Given the description of an element on the screen output the (x, y) to click on. 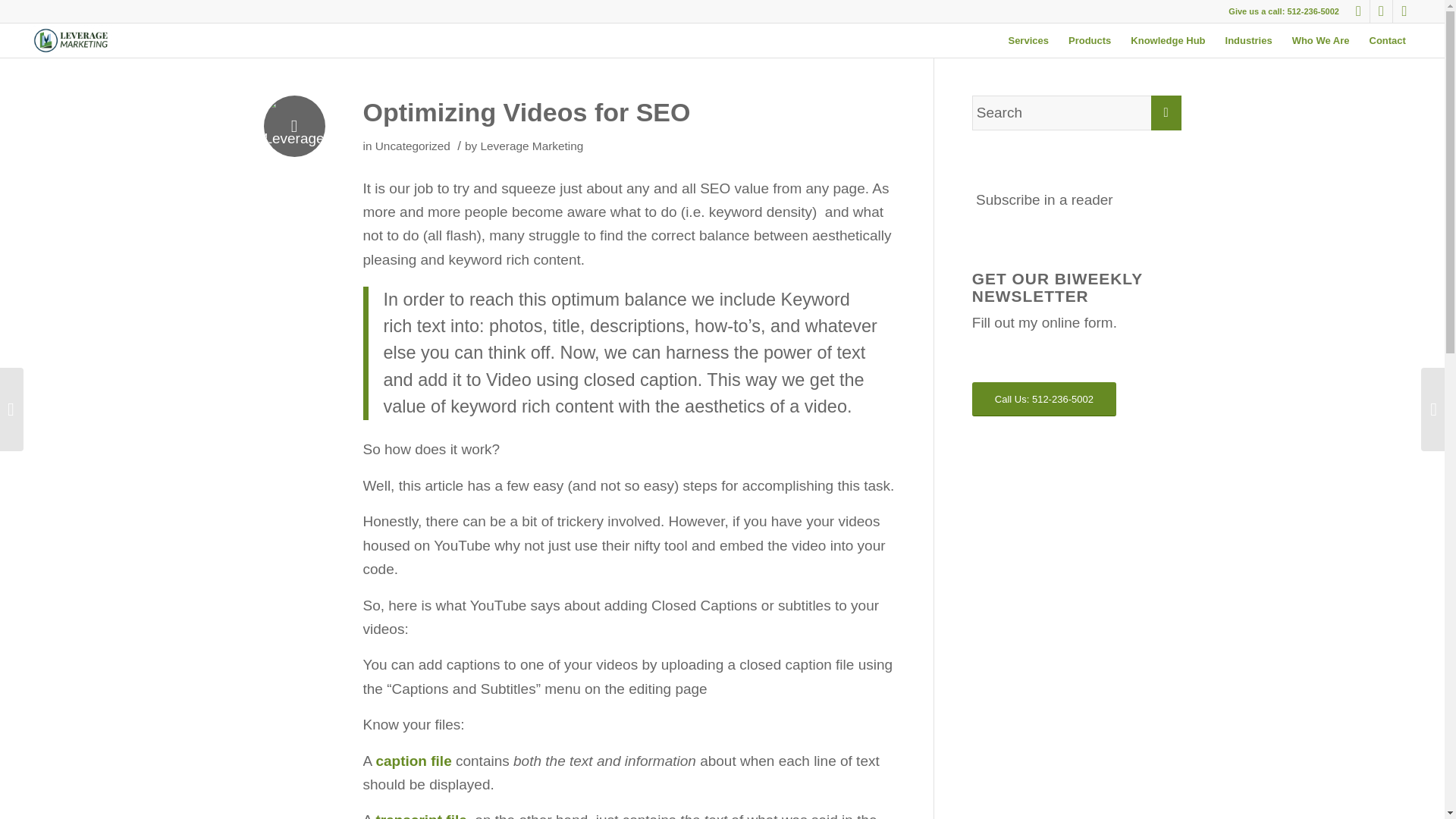
Posts by Leverage Marketing (531, 145)
Permanent Link: Optimizing Videos for SEO (526, 111)
Youtube (1380, 11)
Twitter (1404, 11)
Uncategorized (412, 145)
Products (1089, 40)
Who We Are (1320, 40)
Services (1027, 40)
Contact (1386, 40)
Optimizing Videos for SEO (526, 111)
